Given the description of an element on the screen output the (x, y) to click on. 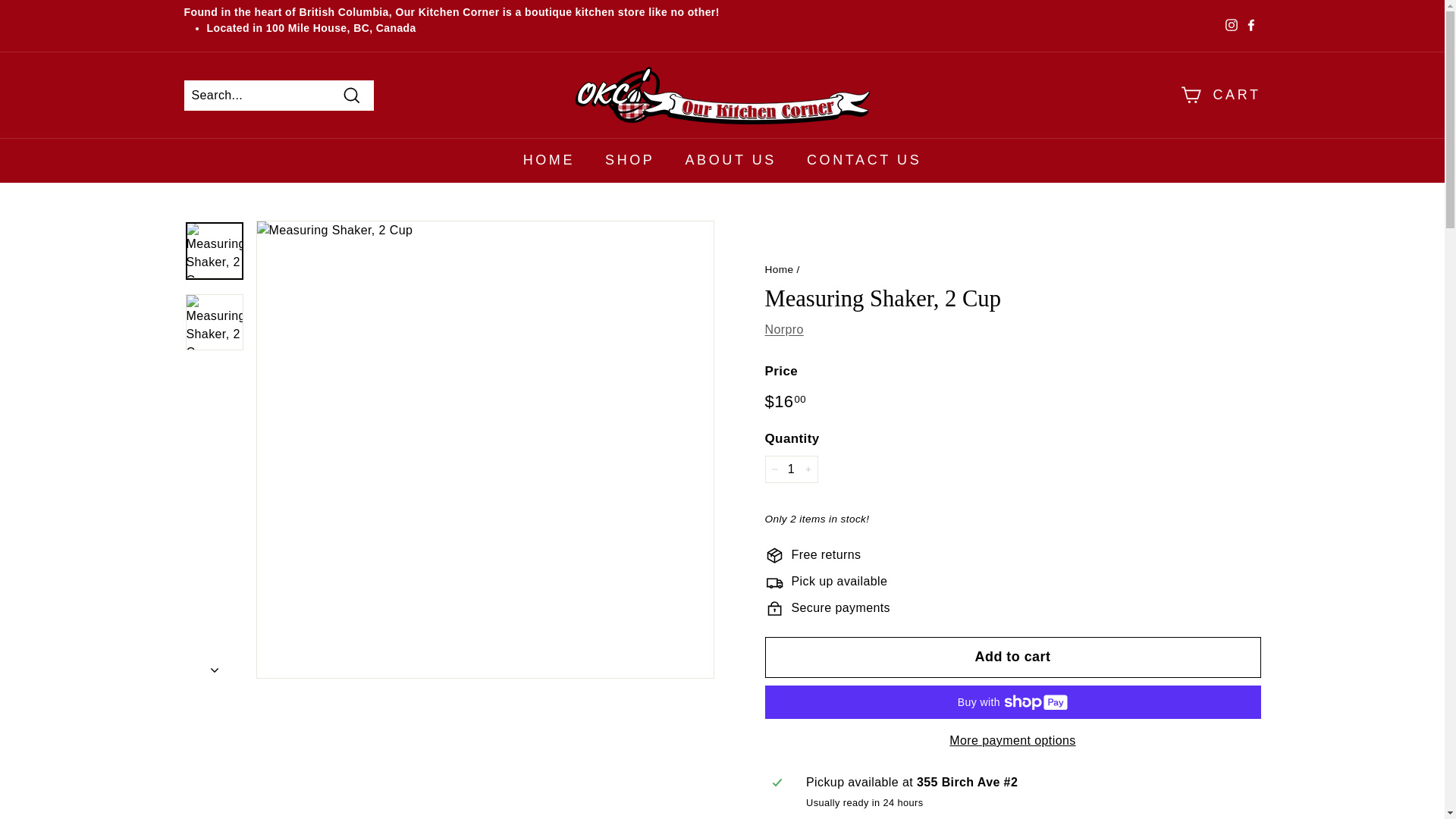
HOME (548, 160)
Back to the frontpage (778, 269)
1 (790, 469)
Norpro (783, 328)
SHOP (629, 160)
